Given the description of an element on the screen output the (x, y) to click on. 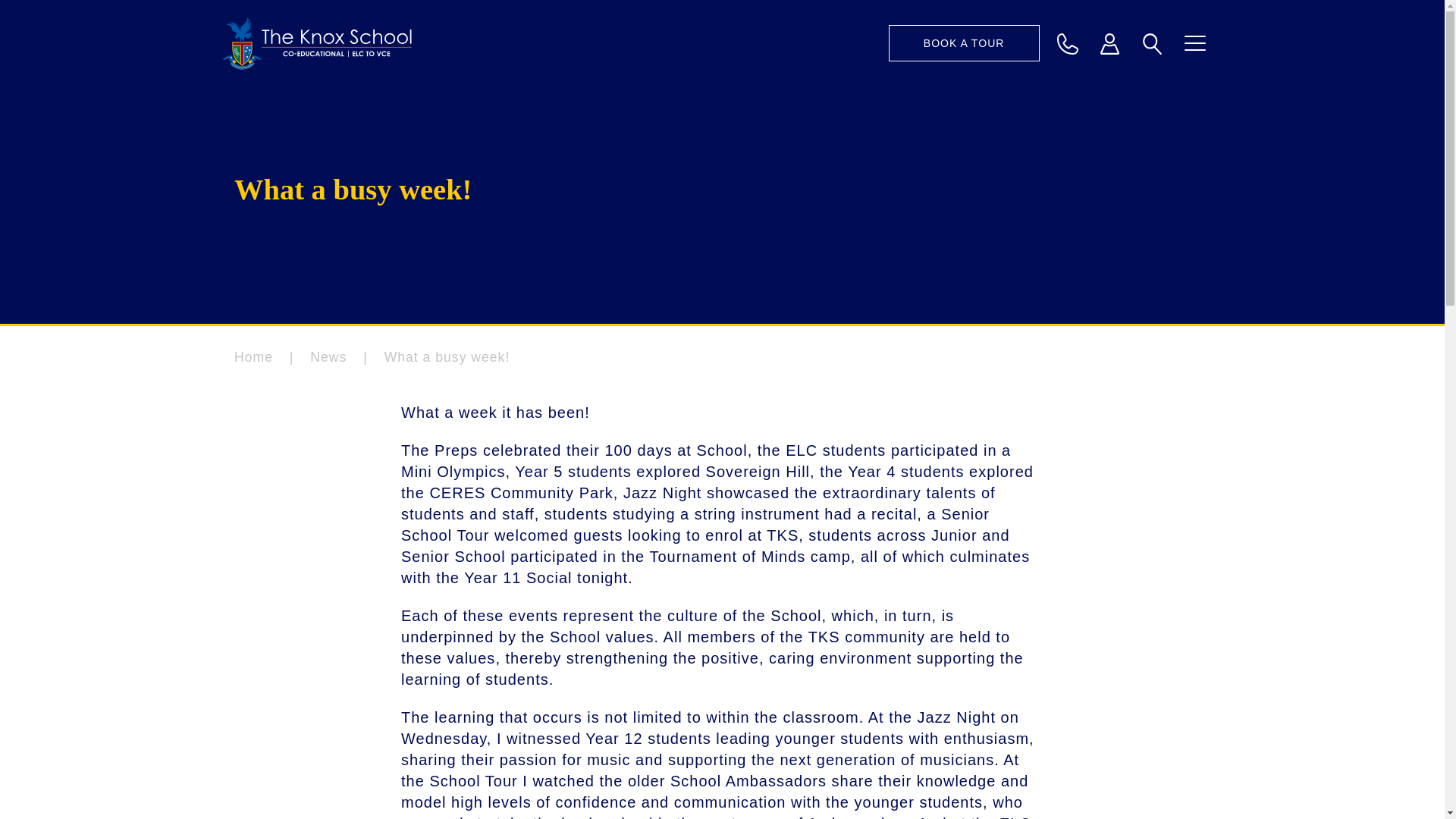
Submit (1144, 99)
BOOK A TOUR (963, 43)
